Given the description of an element on the screen output the (x, y) to click on. 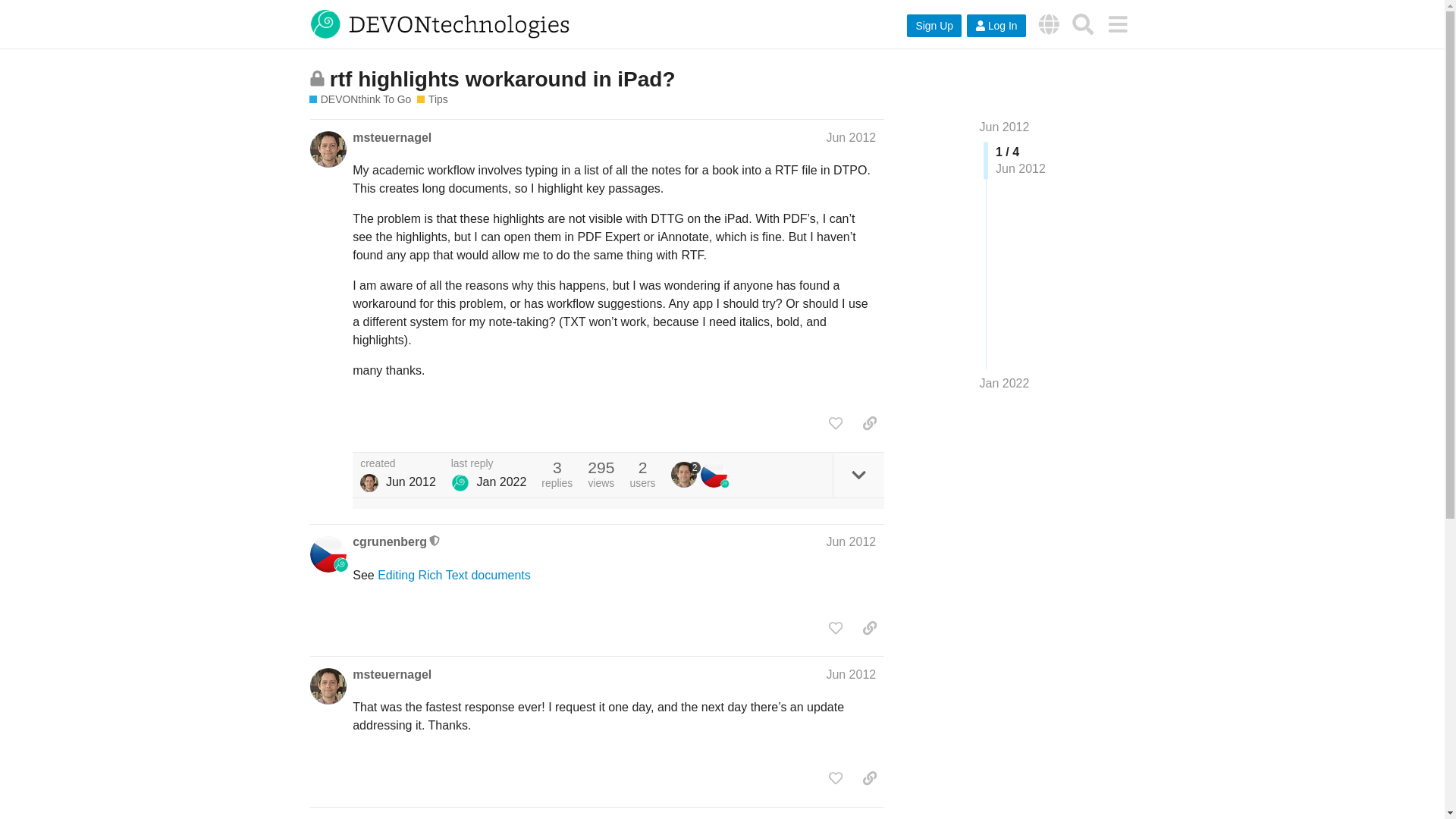
Jun 2012 (850, 541)
General discussion regarding DEVONthink To Go (431, 99)
msteuernagel (391, 137)
Sign Up (933, 25)
cgrunenberg (389, 541)
expand topic details (857, 474)
This topic is closed; it no longer accepts new replies (316, 78)
Jump to the first post (1004, 126)
Jun 2012 (1004, 126)
2 (686, 474)
Jun 7, 2012 11:20 pm (410, 481)
Jump to the last post (1004, 382)
like this post (835, 422)
Jun 2012 (850, 674)
Search (1082, 23)
